Given the description of an element on the screen output the (x, y) to click on. 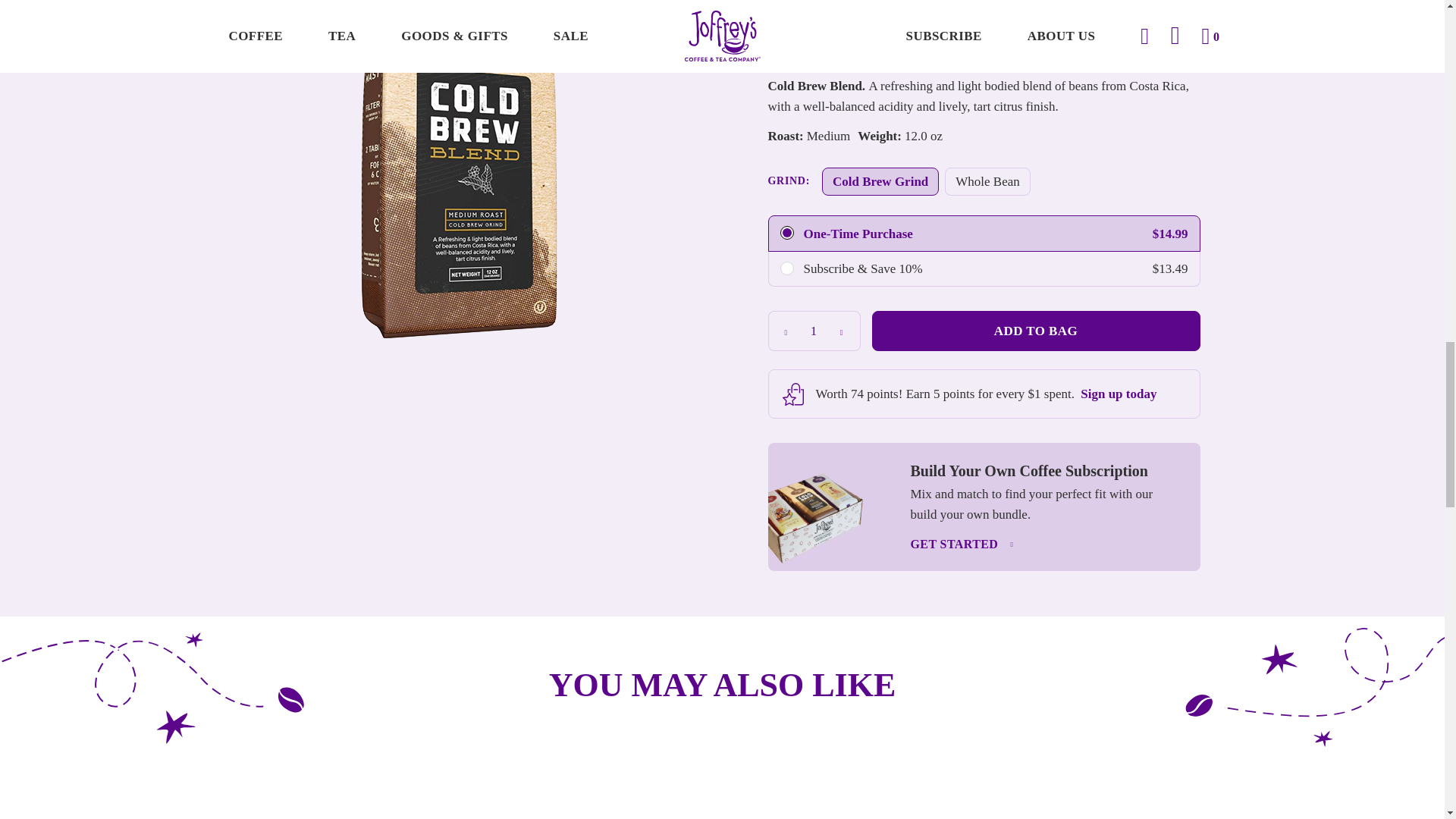
1 (813, 331)
